Given the description of an element on the screen output the (x, y) to click on. 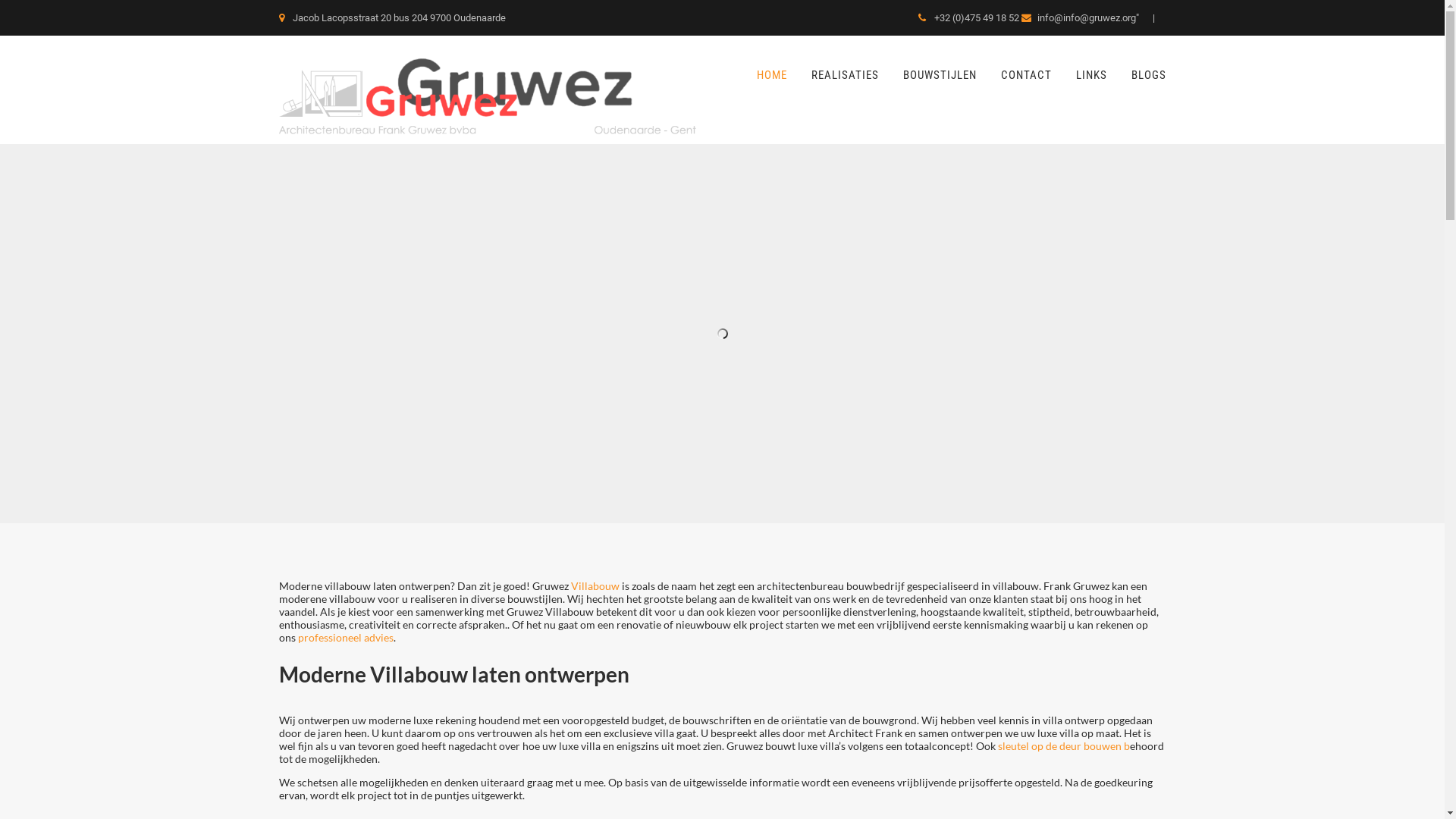
REALISATIES Element type: text (845, 75)
info@info@gruwez.org" Element type: text (1085, 17)
Villabouw Element type: text (595, 585)
sleutel op de deur bouwen b Element type: text (1063, 745)
HOME Element type: text (771, 75)
LINKS Element type: text (1090, 75)
BLOGS Element type: text (1142, 75)
BOUWSTIJLEN Element type: text (939, 75)
Modern Villabouw Element type: hover (487, 137)
professioneel advies Element type: text (344, 636)
CONTACT Element type: text (1025, 75)
